Given the description of an element on the screen output the (x, y) to click on. 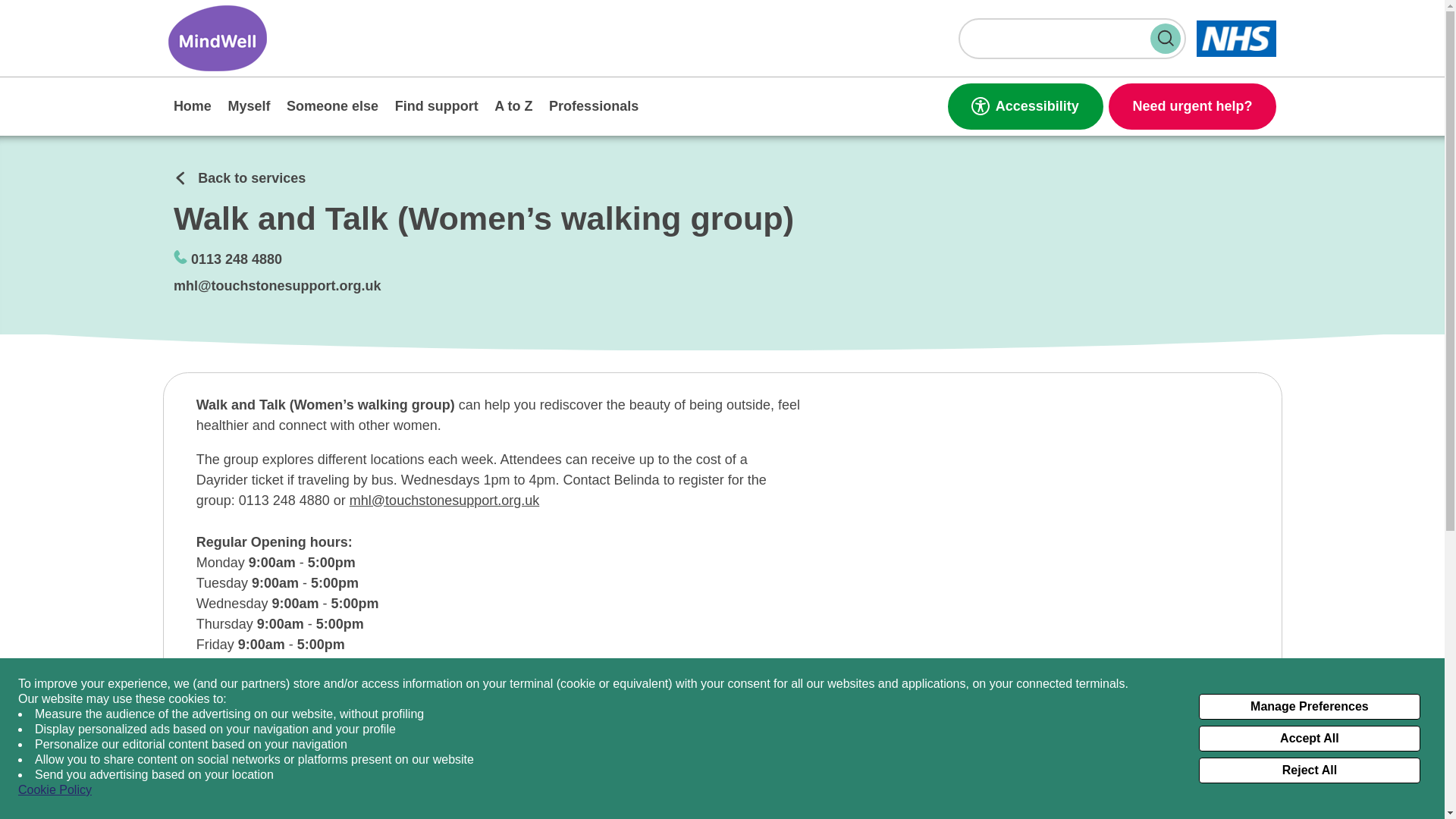
Accessibility (1025, 106)
Someone else (332, 106)
0113 248 4880 (236, 258)
MindWell home (217, 37)
Accept All (1309, 738)
Site Feedback (80, 803)
A to Z (513, 106)
Need urgent help? (1192, 106)
Find support (435, 106)
Myself (248, 106)
Back to services (239, 178)
Reject All (1309, 769)
Cookie Policy (54, 789)
Professionals (593, 106)
Home (192, 106)
